Given the description of an element on the screen output the (x, y) to click on. 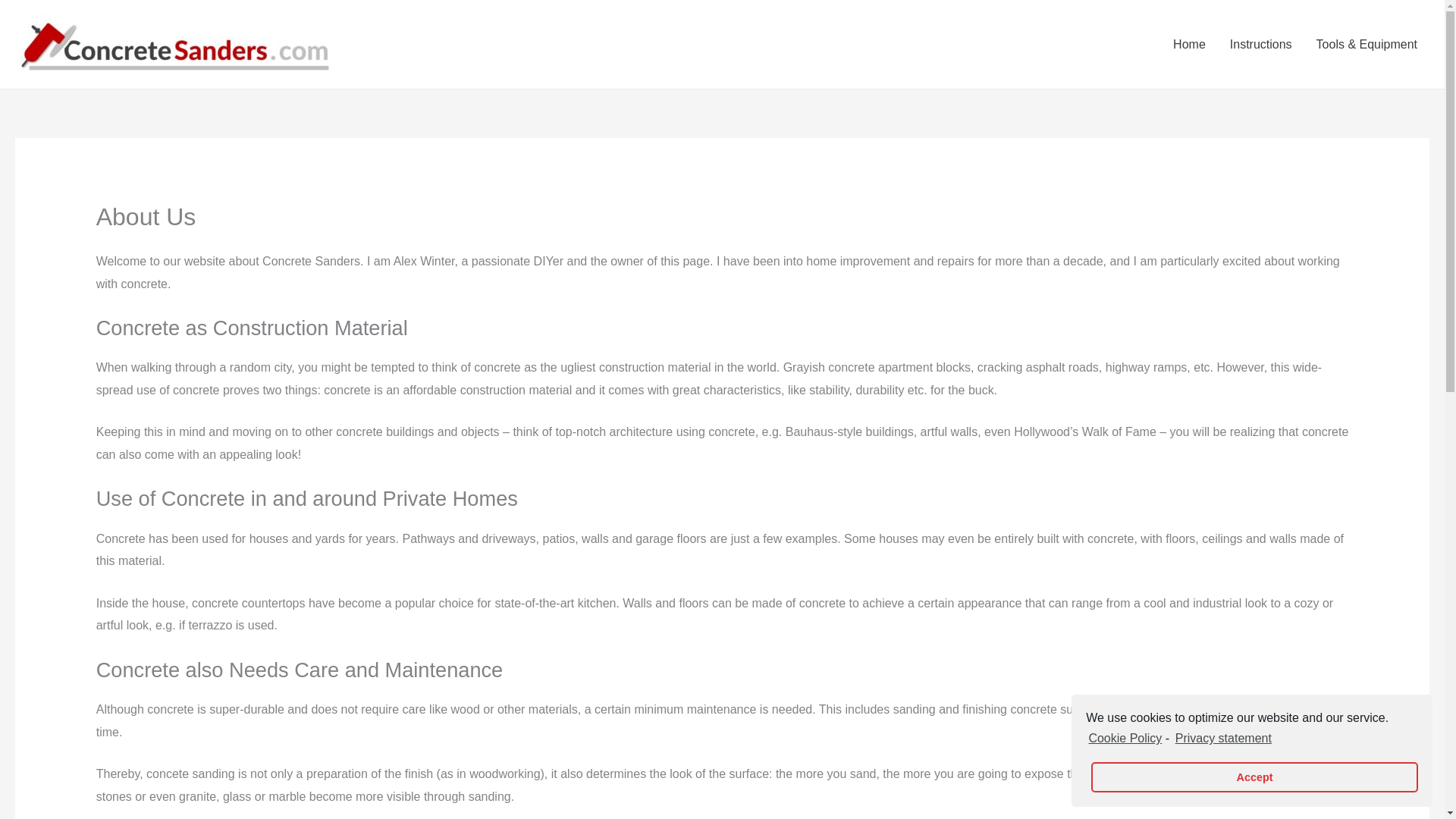
Cookie Policy (1123, 738)
Instructions (1260, 43)
Home (1188, 43)
Accept (1253, 777)
Privacy statement (1222, 738)
